Given the description of an element on the screen output the (x, y) to click on. 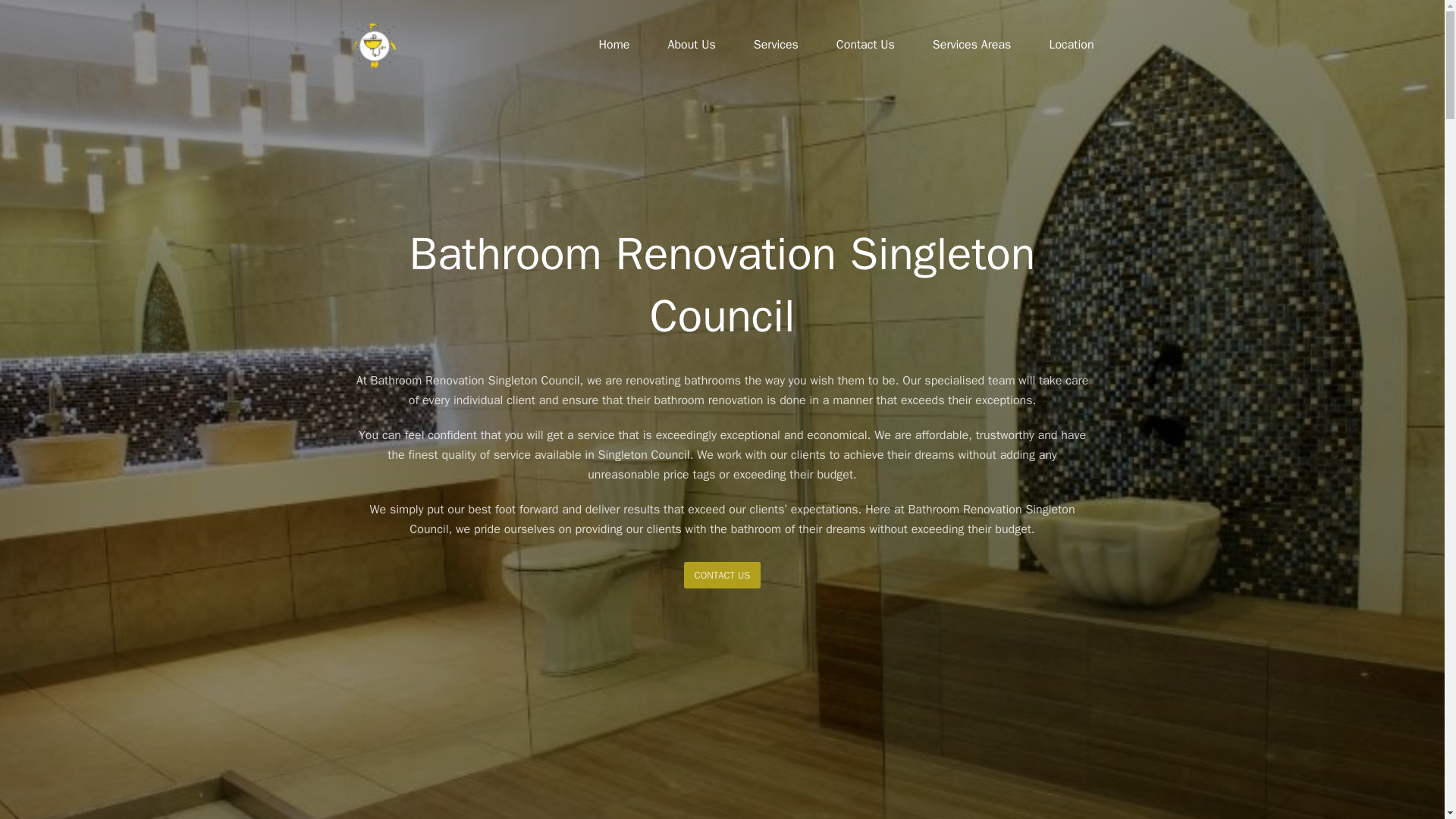
Services (775, 45)
Services Areas (972, 45)
Contact Us (865, 45)
Home (615, 45)
Contact us (722, 574)
Location (1070, 45)
Services (775, 45)
About Us (691, 45)
